Given the description of an element on the screen output the (x, y) to click on. 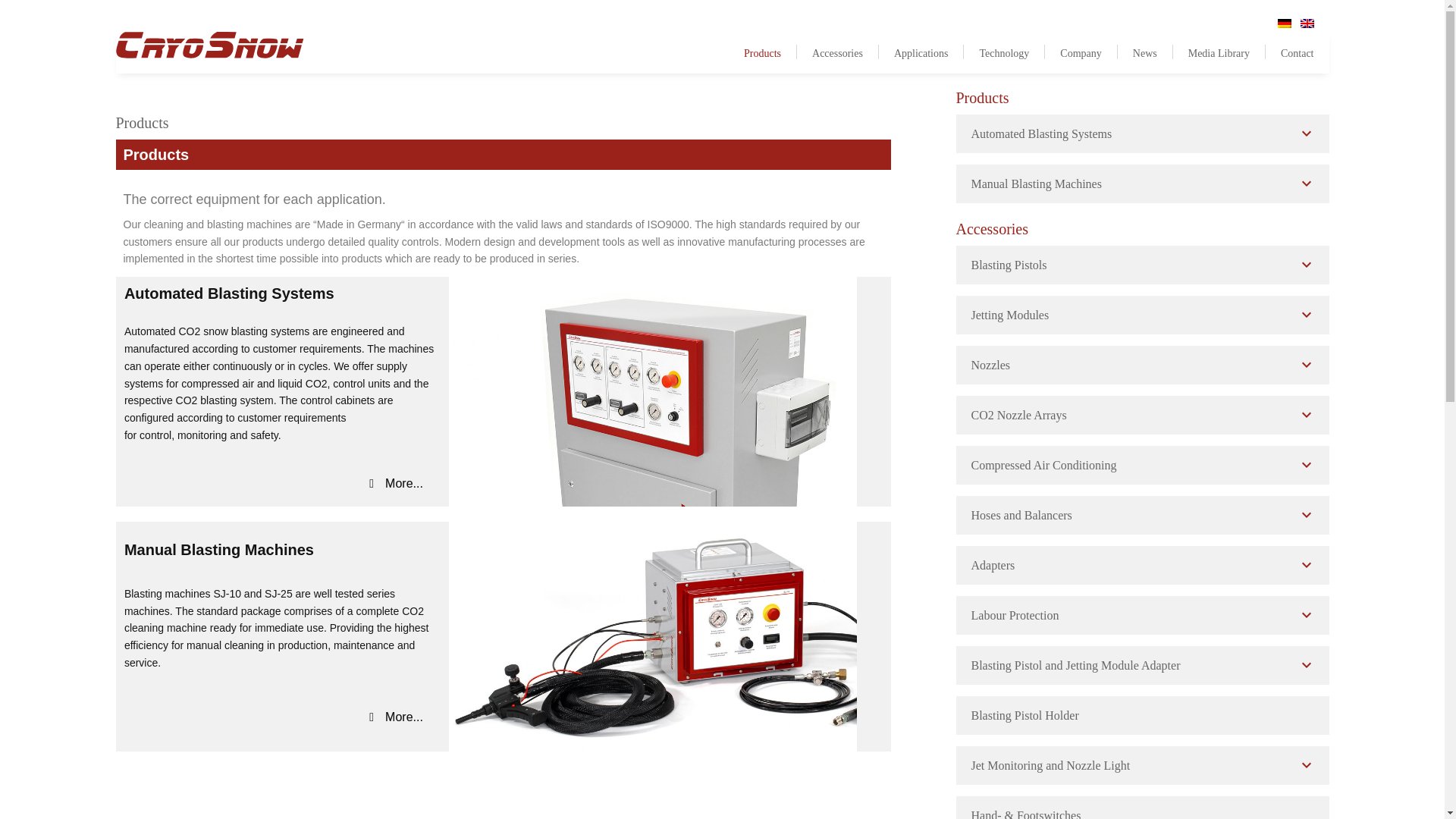
Media Library (1219, 51)
Company (1080, 51)
Products (762, 51)
More... (395, 717)
Contact (1289, 51)
Blasting Pistols (1141, 264)
Technology (1004, 51)
CryoSnow GmbH (209, 48)
Accessories (837, 51)
Manual Blasting Machines (1141, 183)
More... (395, 483)
Automated Blasting Systems (1141, 133)
News (1145, 51)
Applications (921, 51)
